Given the description of an element on the screen output the (x, y) to click on. 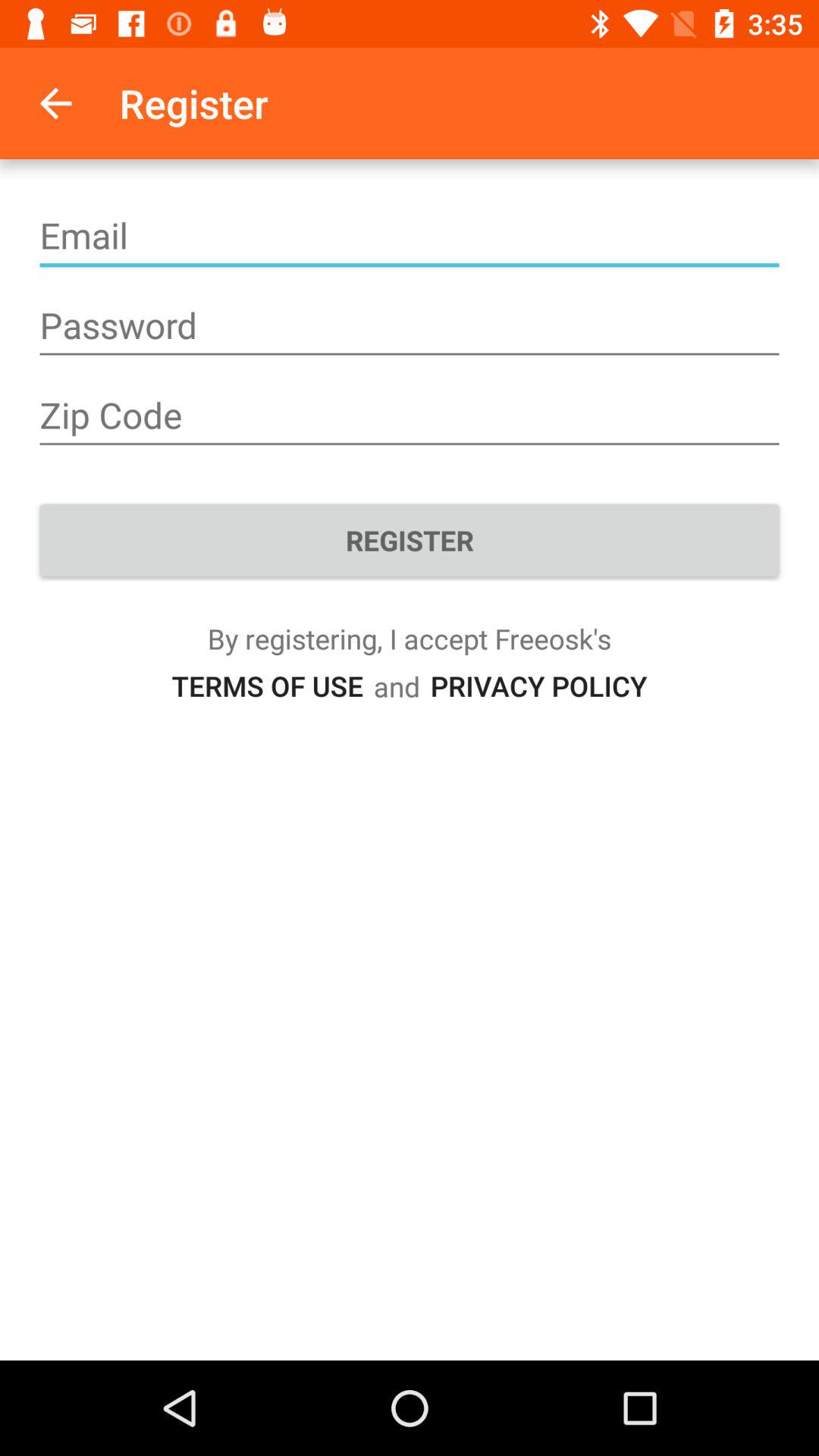
press icon above the register icon (409, 415)
